Given the description of an element on the screen output the (x, y) to click on. 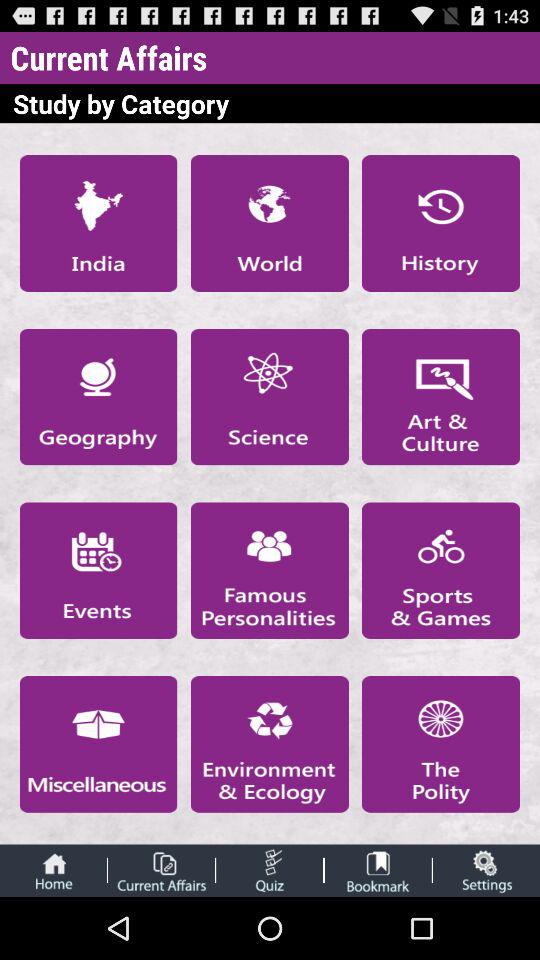
displays environment ecology as study by category when selcted (269, 744)
